Given the description of an element on the screen output the (x, y) to click on. 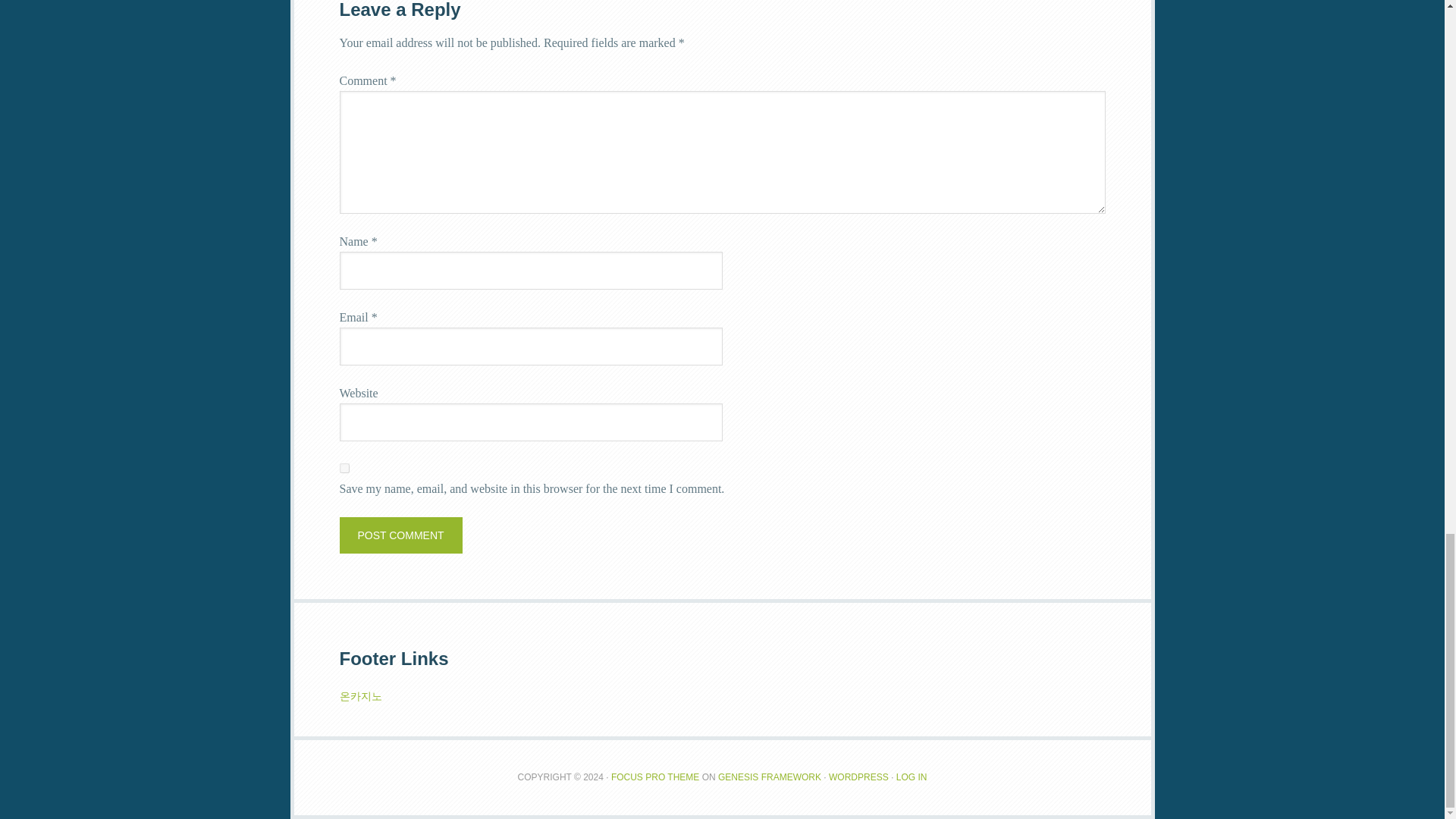
Post Comment (401, 534)
FOCUS PRO THEME (654, 777)
Post Comment (401, 534)
yes (344, 468)
WORDPRESS (858, 777)
LOG IN (911, 777)
GENESIS FRAMEWORK (769, 777)
